Given the description of an element on the screen output the (x, y) to click on. 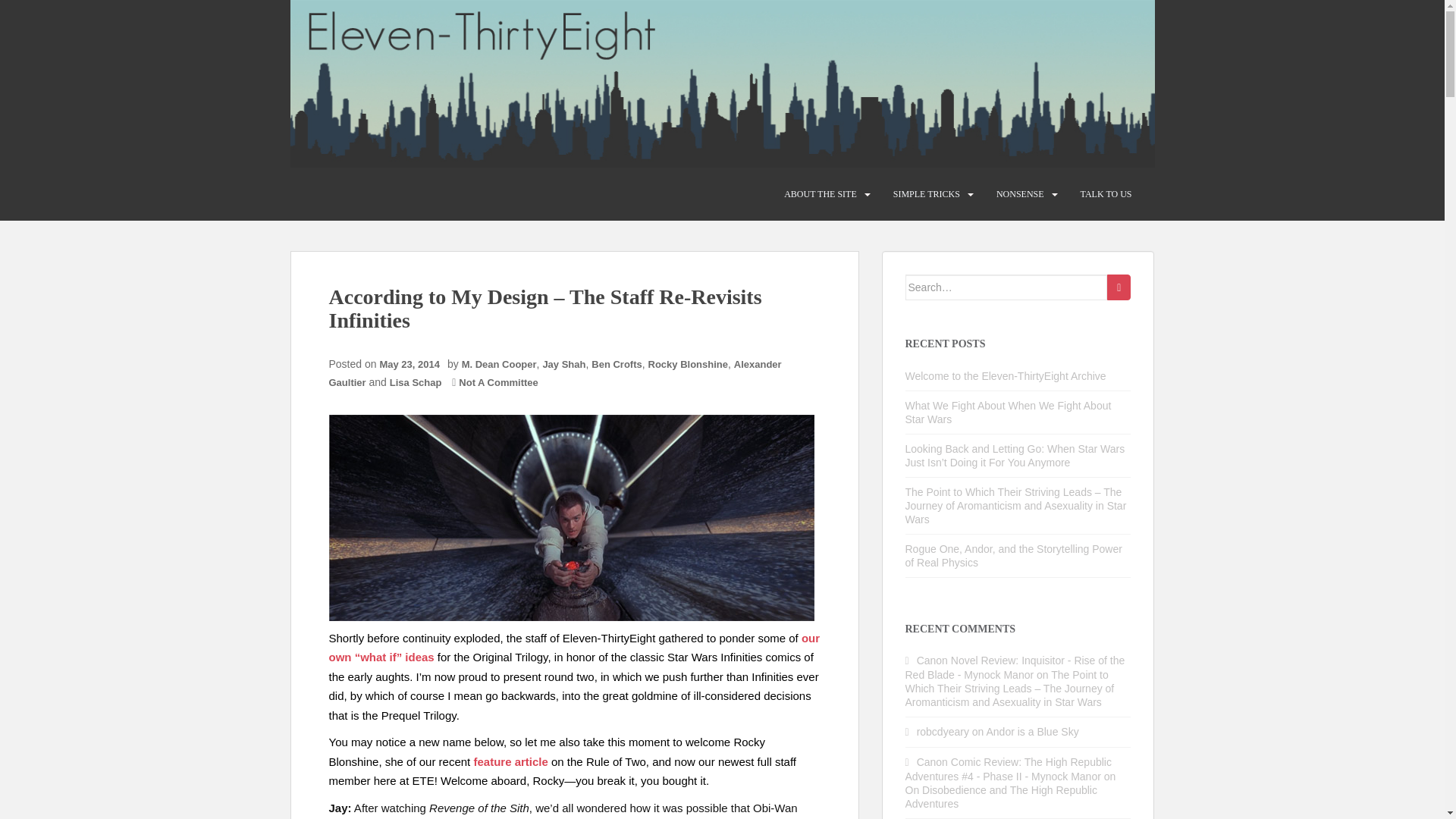
NONSENSE (1019, 194)
8:00 am (412, 364)
Posts by Alexander Gaultier (555, 373)
ABOUT THE SITE (820, 194)
Rocky Blonshine (686, 364)
TALK TO US (1106, 194)
Posts by Jay Shah (563, 364)
Jay Shah (563, 364)
Lisa Schap (416, 382)
SIMPLE TRICKS (926, 194)
